Given the description of an element on the screen output the (x, y) to click on. 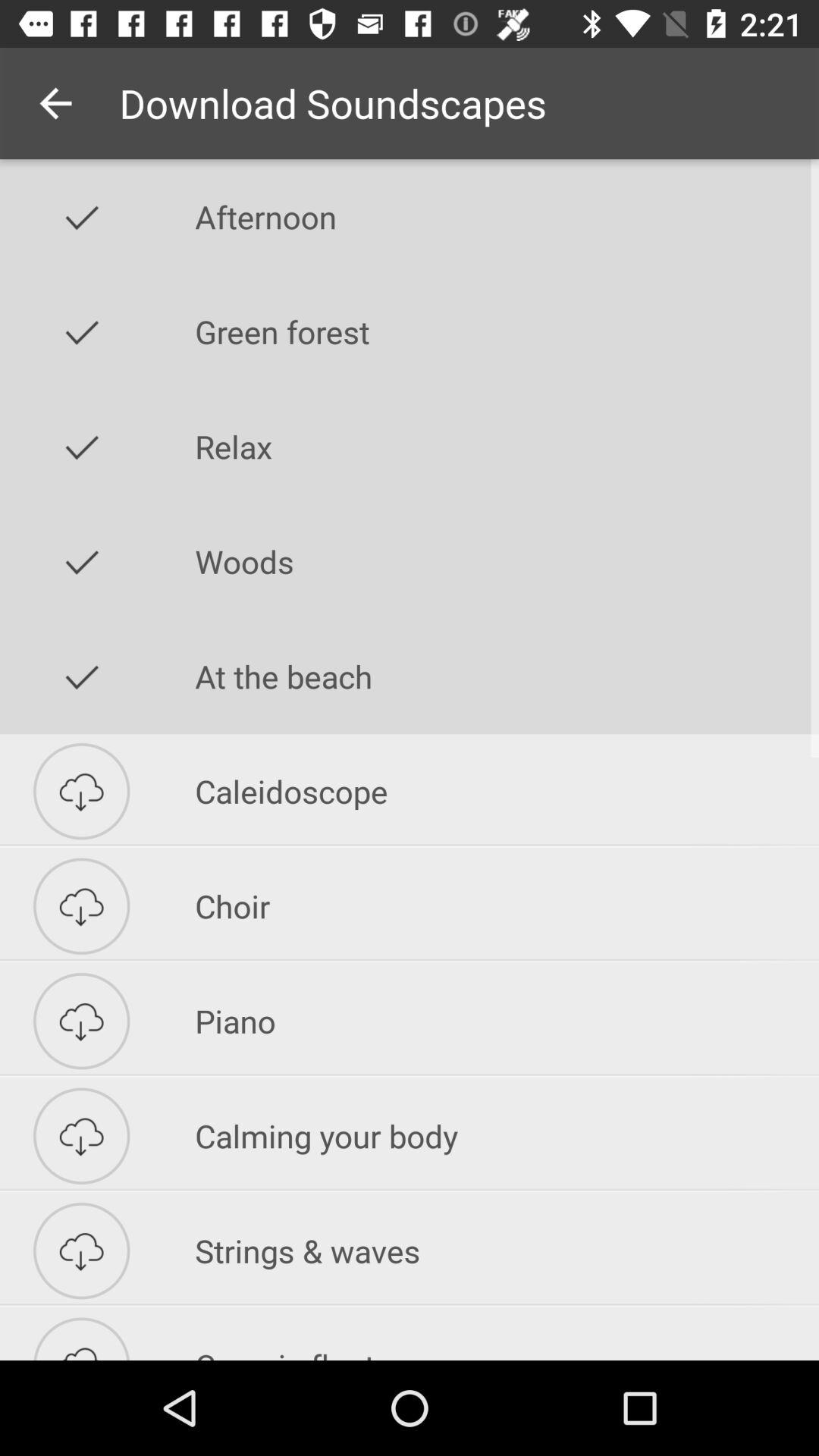
open icon to the left of the download soundscapes icon (55, 103)
